Given the description of an element on the screen output the (x, y) to click on. 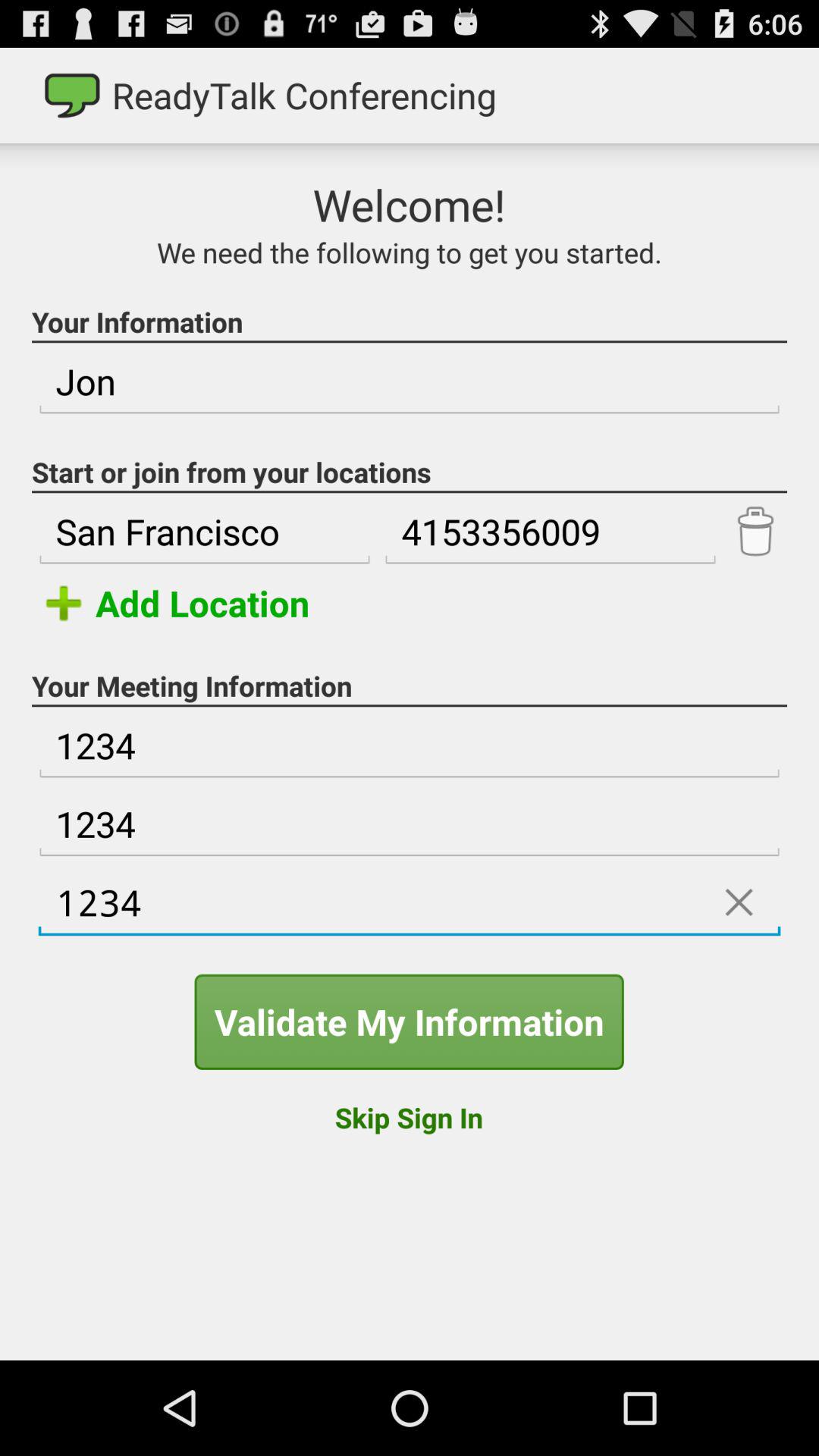
turn off button above skip sign in (408, 1021)
